Given the description of an element on the screen output the (x, y) to click on. 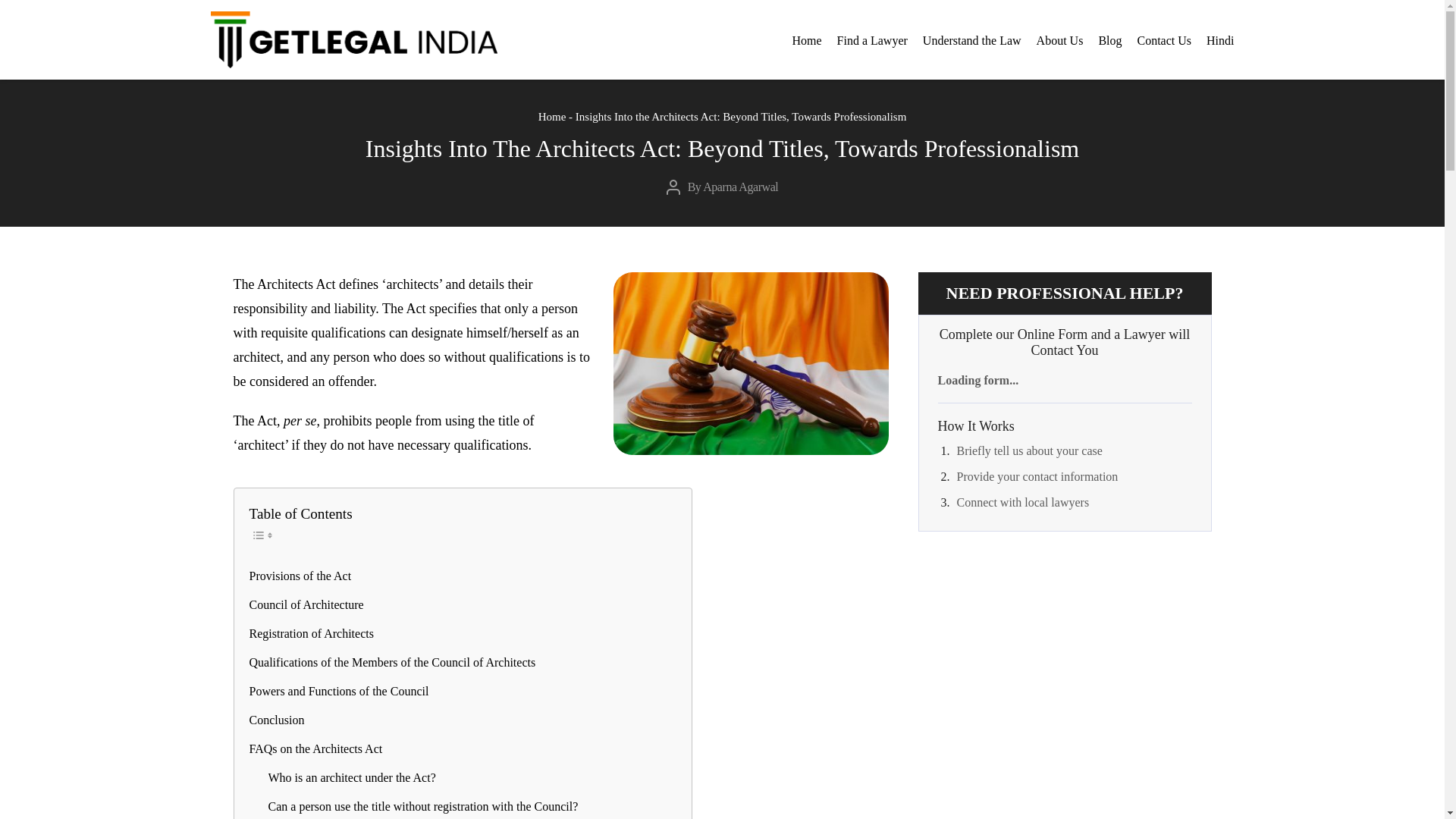
Who is an architect under the Act? (351, 777)
About Us (1059, 40)
Find a Lawyer (872, 40)
Council of Architecture (305, 604)
Contact Us (1164, 40)
Provisions of the Act (299, 576)
Conclusion (276, 720)
Blog (1109, 40)
Aparna Agarwal (740, 186)
